Given the description of an element on the screen output the (x, y) to click on. 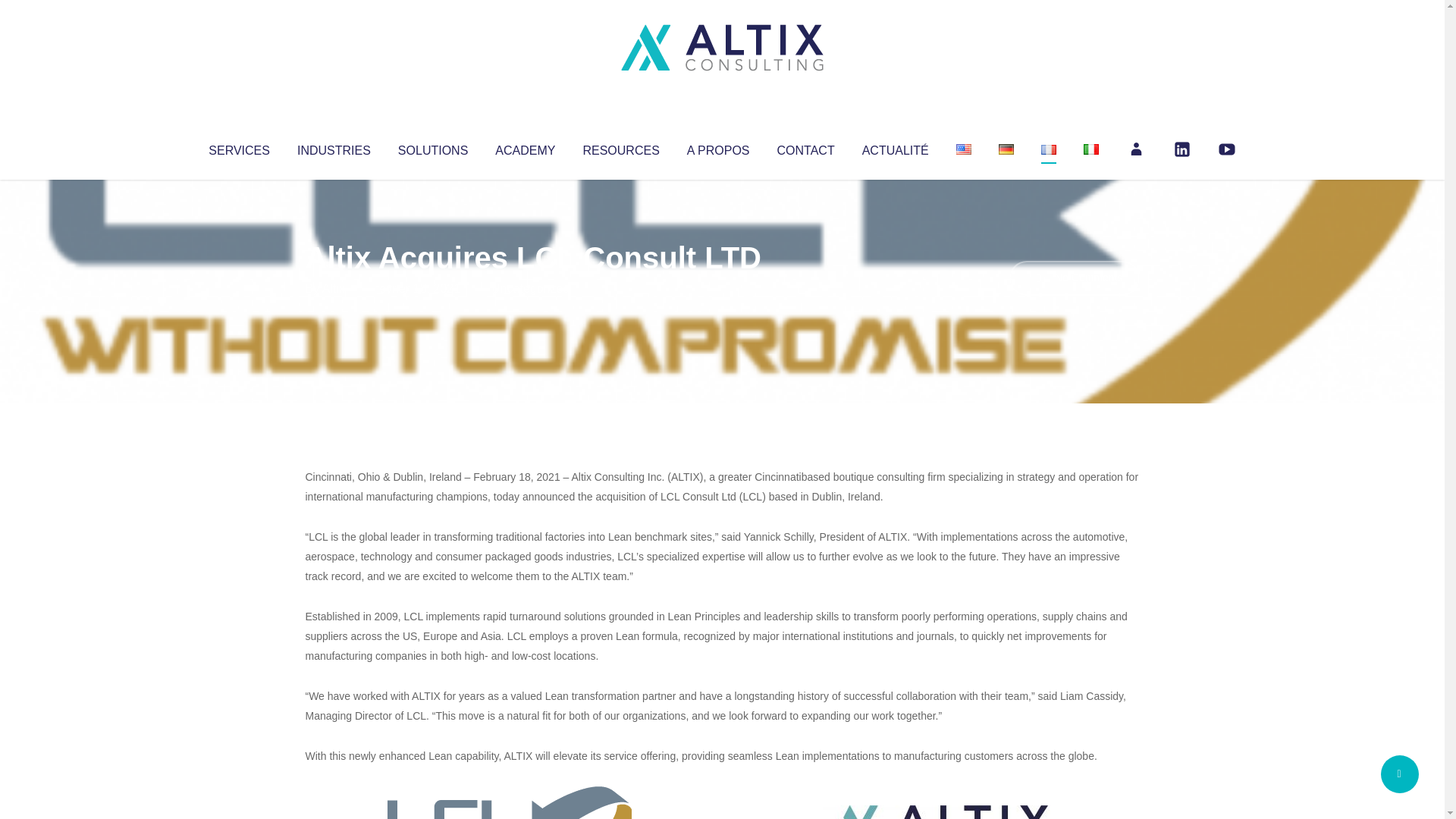
RESOURCES (620, 146)
ACADEMY (524, 146)
No Comments (1073, 278)
Altix (333, 287)
SOLUTIONS (432, 146)
Uncategorized (530, 287)
INDUSTRIES (334, 146)
SERVICES (238, 146)
A PROPOS (718, 146)
Articles par Altix (333, 287)
